Given the description of an element on the screen output the (x, y) to click on. 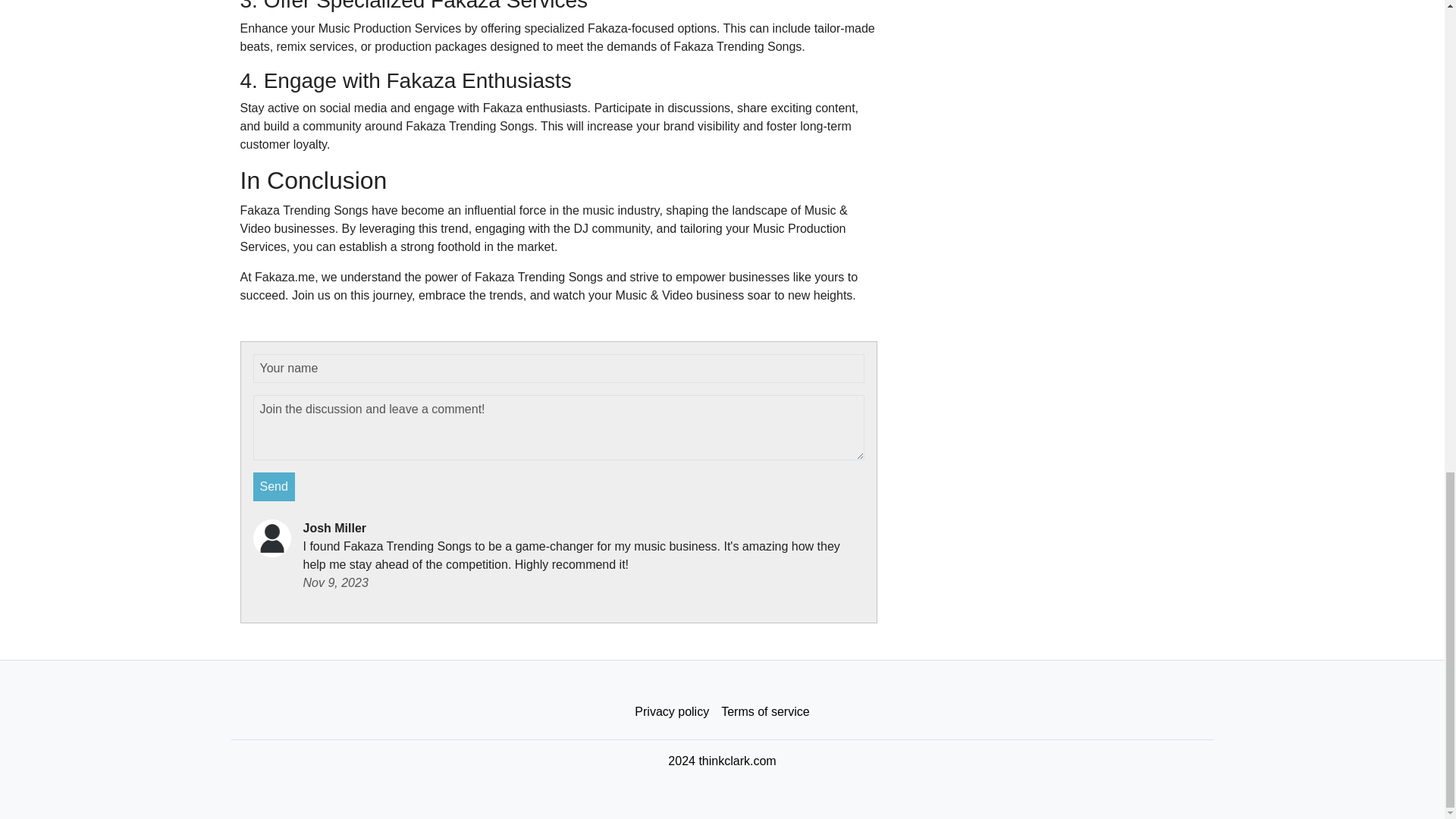
Send (274, 486)
Send (274, 486)
Privacy policy (671, 711)
Terms of service (764, 711)
